Given the description of an element on the screen output the (x, y) to click on. 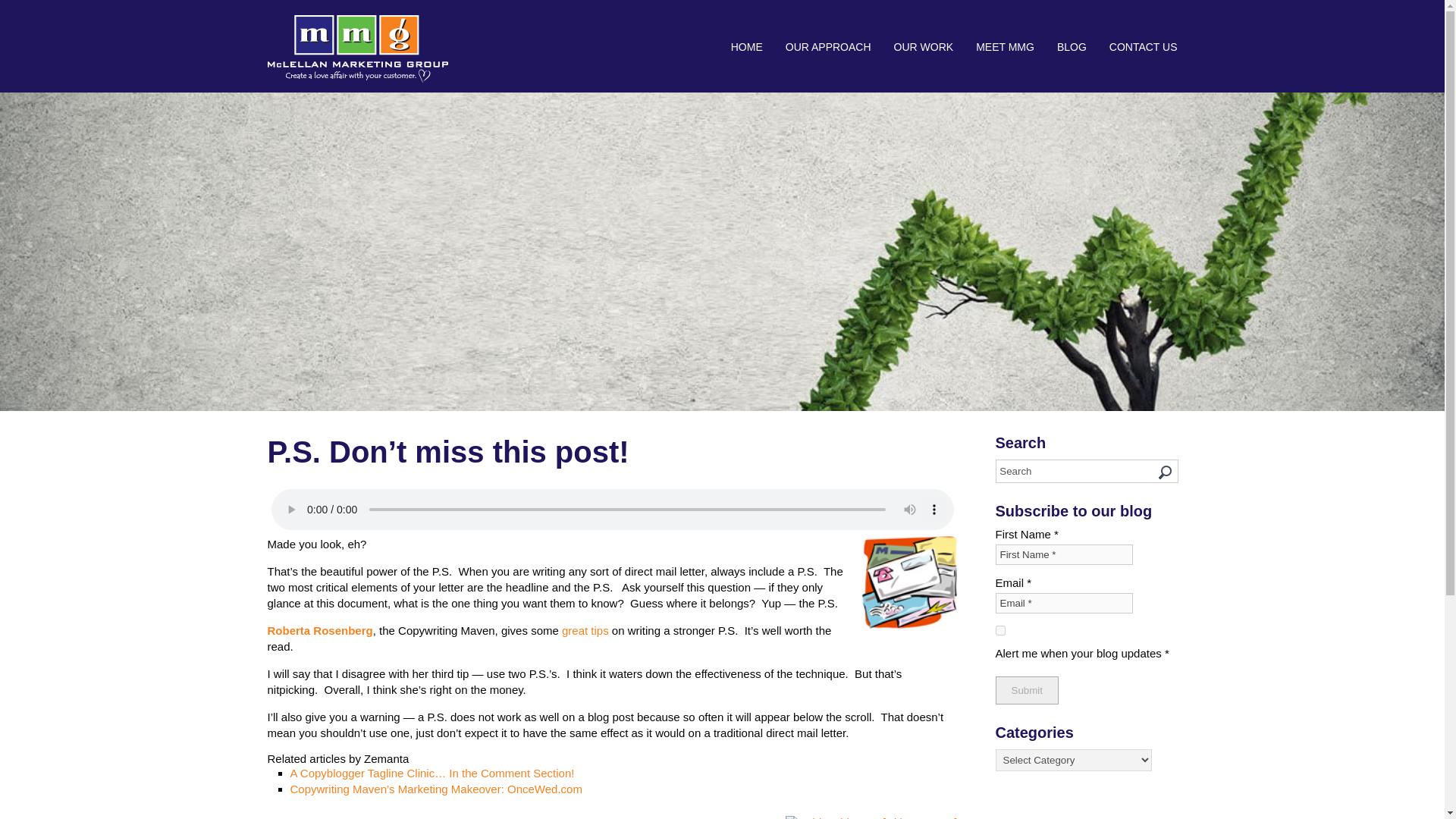
Search (1085, 471)
MEET MMG (1004, 46)
OUR WORK (923, 46)
HOME (746, 46)
great tips (585, 630)
BLOG (1071, 46)
Search (1085, 471)
CONTACT US (1137, 46)
496 (999, 630)
21121021 (909, 582)
Roberta Rosenberg (319, 630)
OUR APPROACH (828, 46)
